Given the description of an element on the screen output the (x, y) to click on. 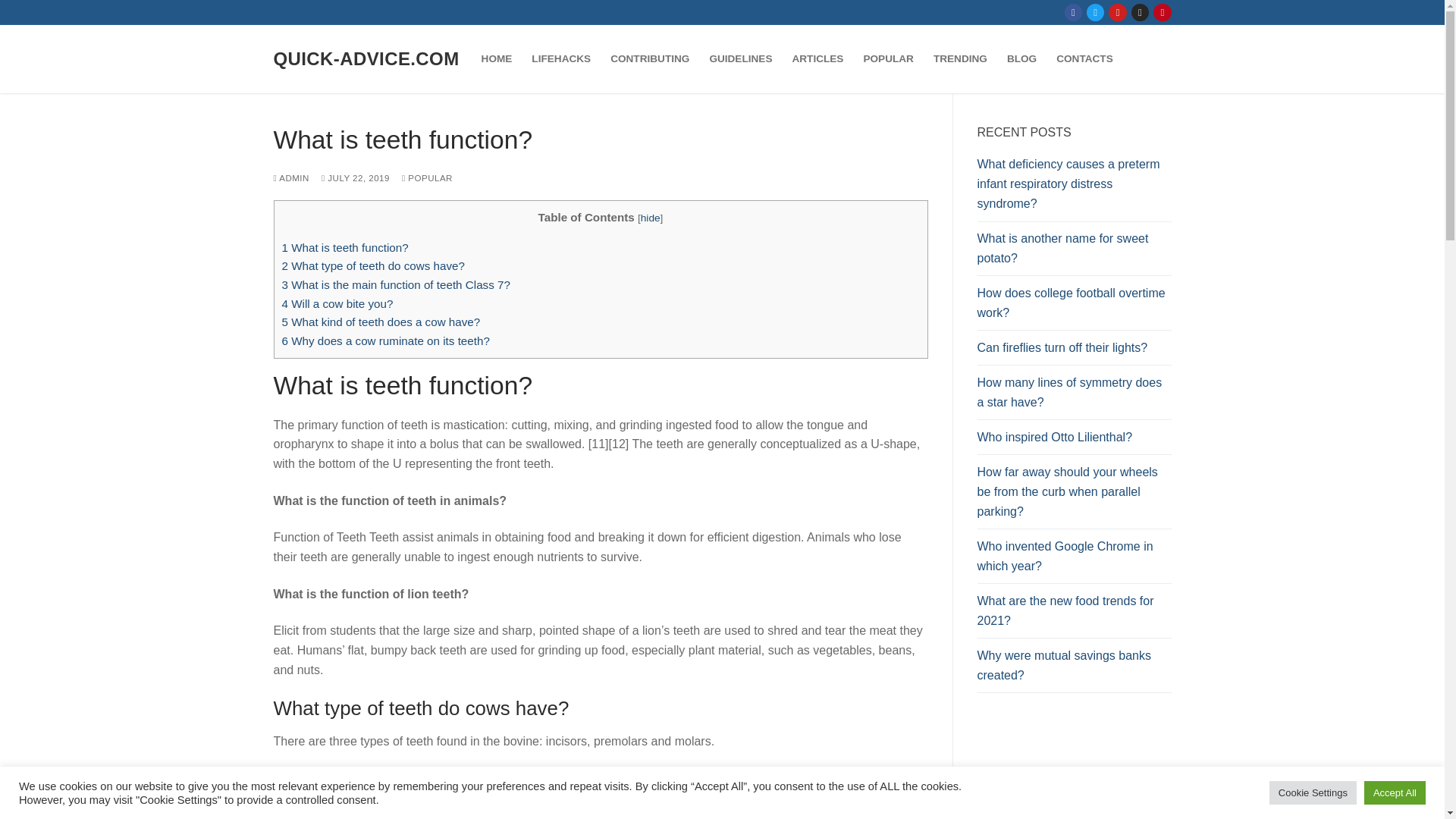
POPULAR (888, 59)
5 What kind of teeth does a cow have? (381, 321)
1 What is teeth function? (345, 246)
ADMIN (290, 177)
Twitter (1095, 12)
JULY 22, 2019 (355, 177)
HOME (496, 59)
BLOG (1021, 59)
Pinterest (1162, 12)
LIFEHACKS (560, 59)
